Given the description of an element on the screen output the (x, y) to click on. 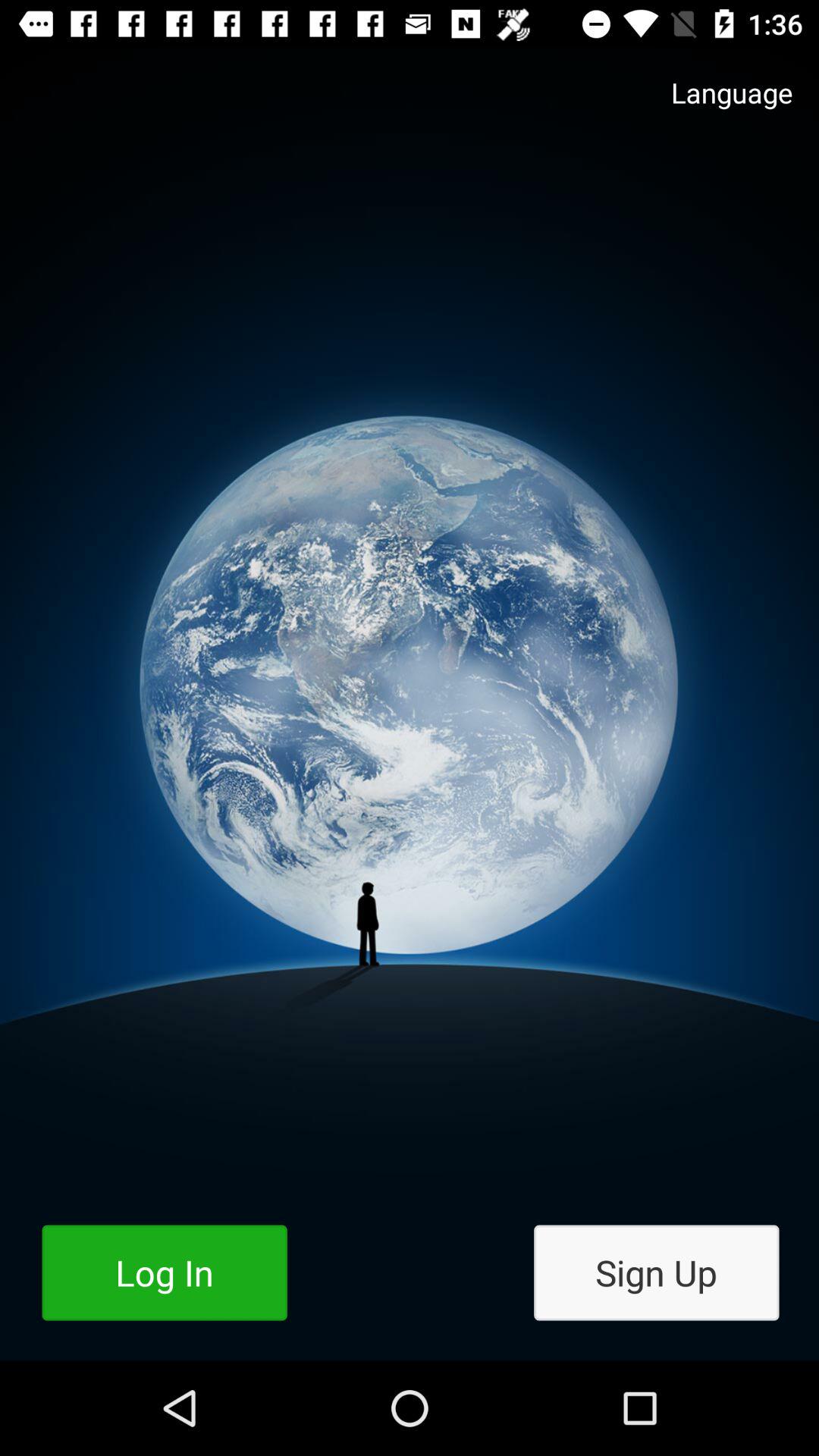
scroll to the sign up (656, 1272)
